Given the description of an element on the screen output the (x, y) to click on. 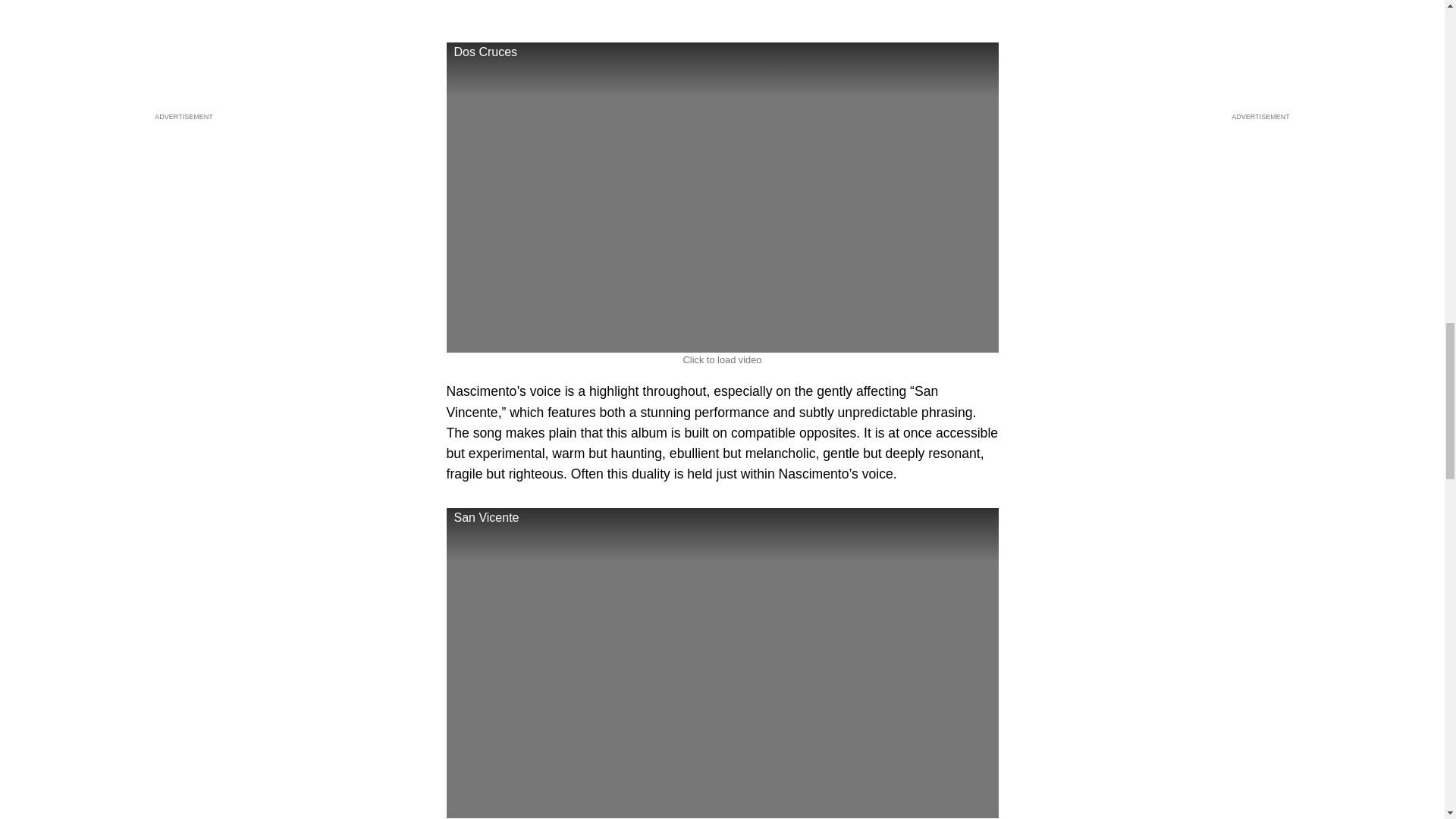
3rd party ad content (721, 9)
